Given the description of an element on the screen output the (x, y) to click on. 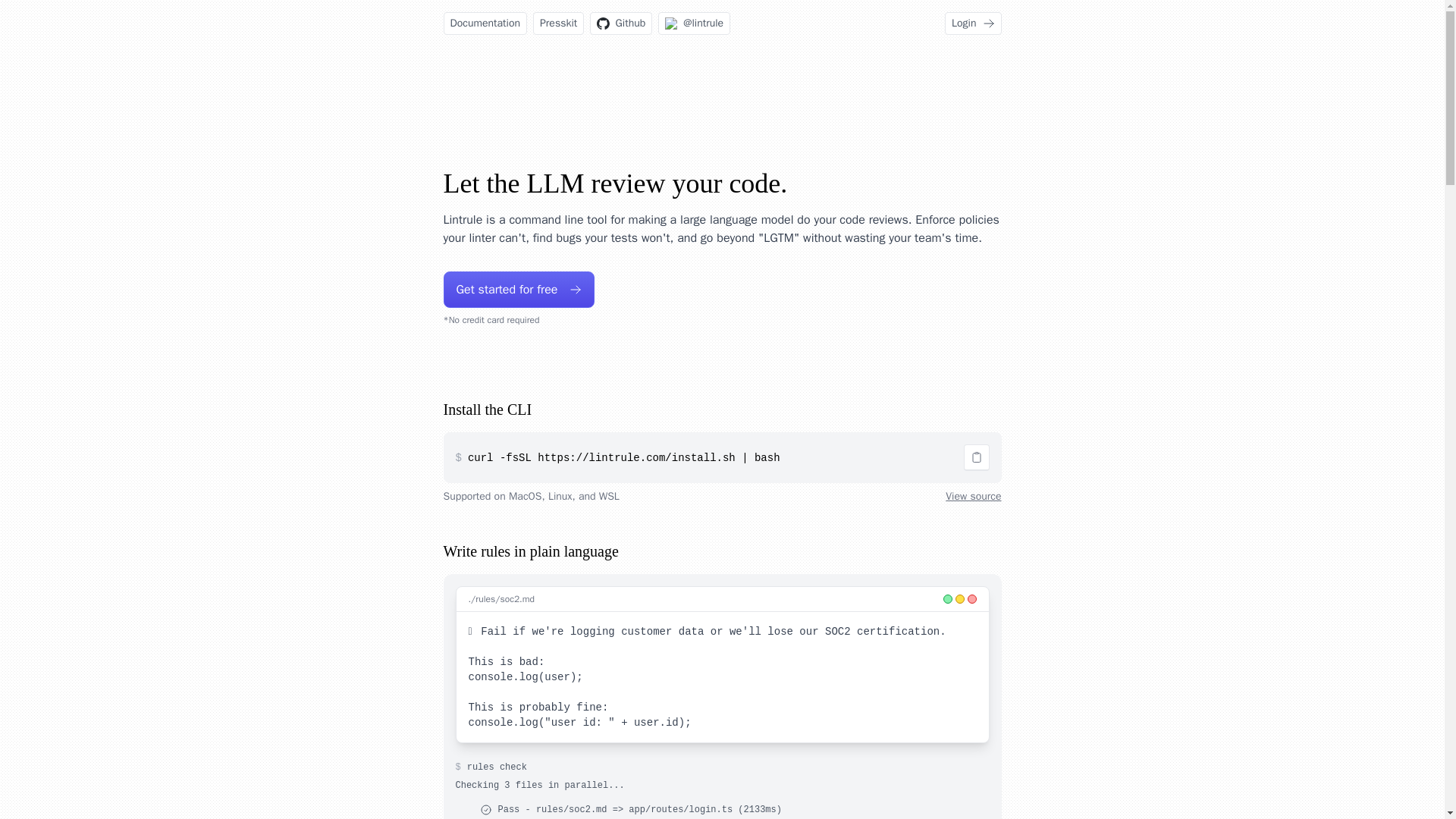
View source (972, 496)
Login (972, 23)
Get started for free (518, 289)
Github (620, 23)
Presskit (557, 23)
Documentation (484, 23)
